Given the description of an element on the screen output the (x, y) to click on. 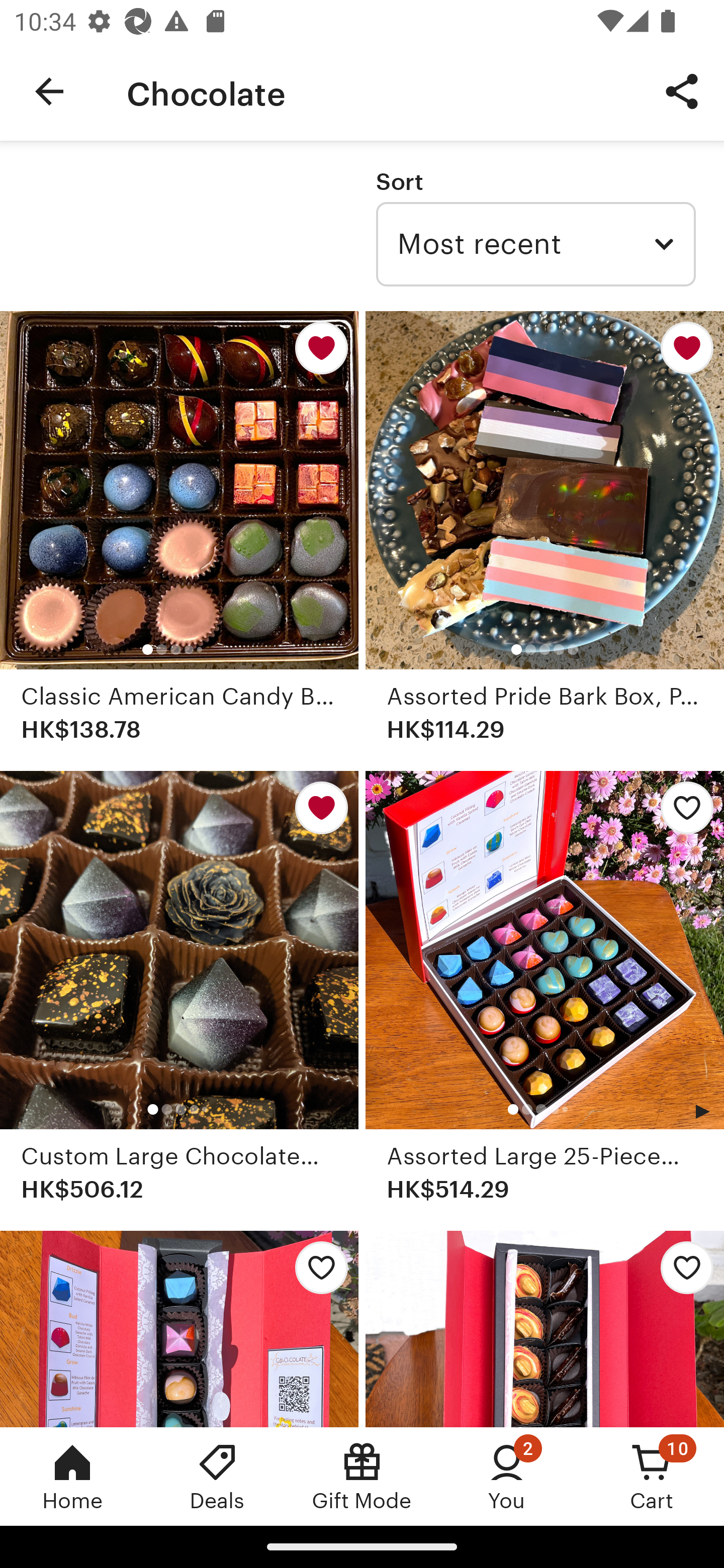
Navigate up (49, 91)
Share Button (681, 90)
Sort (399, 181)
Most recent (535, 244)
Add Custom Medium Chocolate Box to favorites (681, 1272)
Deals (216, 1475)
Gift Mode (361, 1475)
You, 2 new notifications You (506, 1475)
Cart, 10 new notifications Cart (651, 1475)
